Given the description of an element on the screen output the (x, y) to click on. 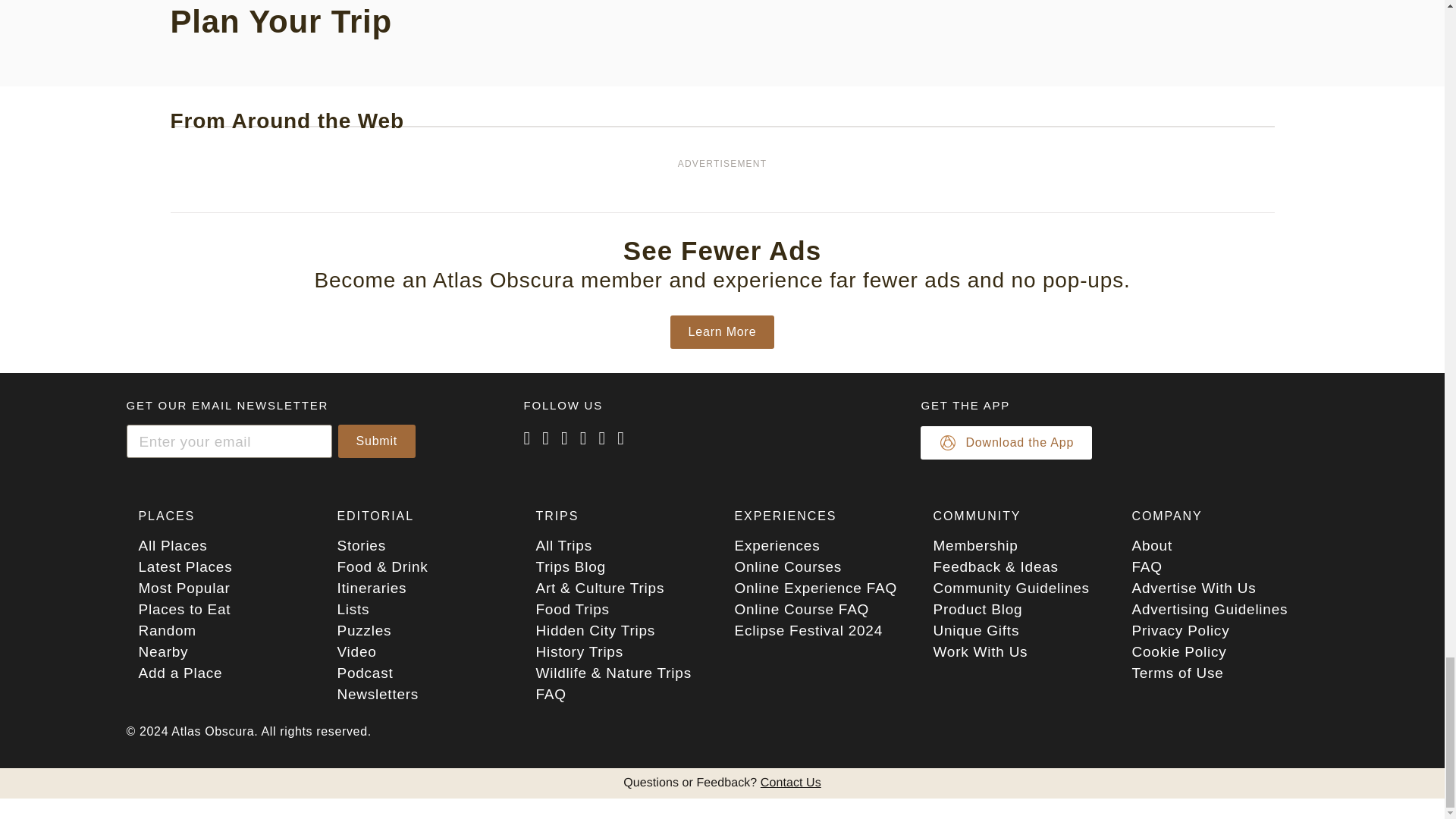
Submit (376, 441)
